Given the description of an element on the screen output the (x, y) to click on. 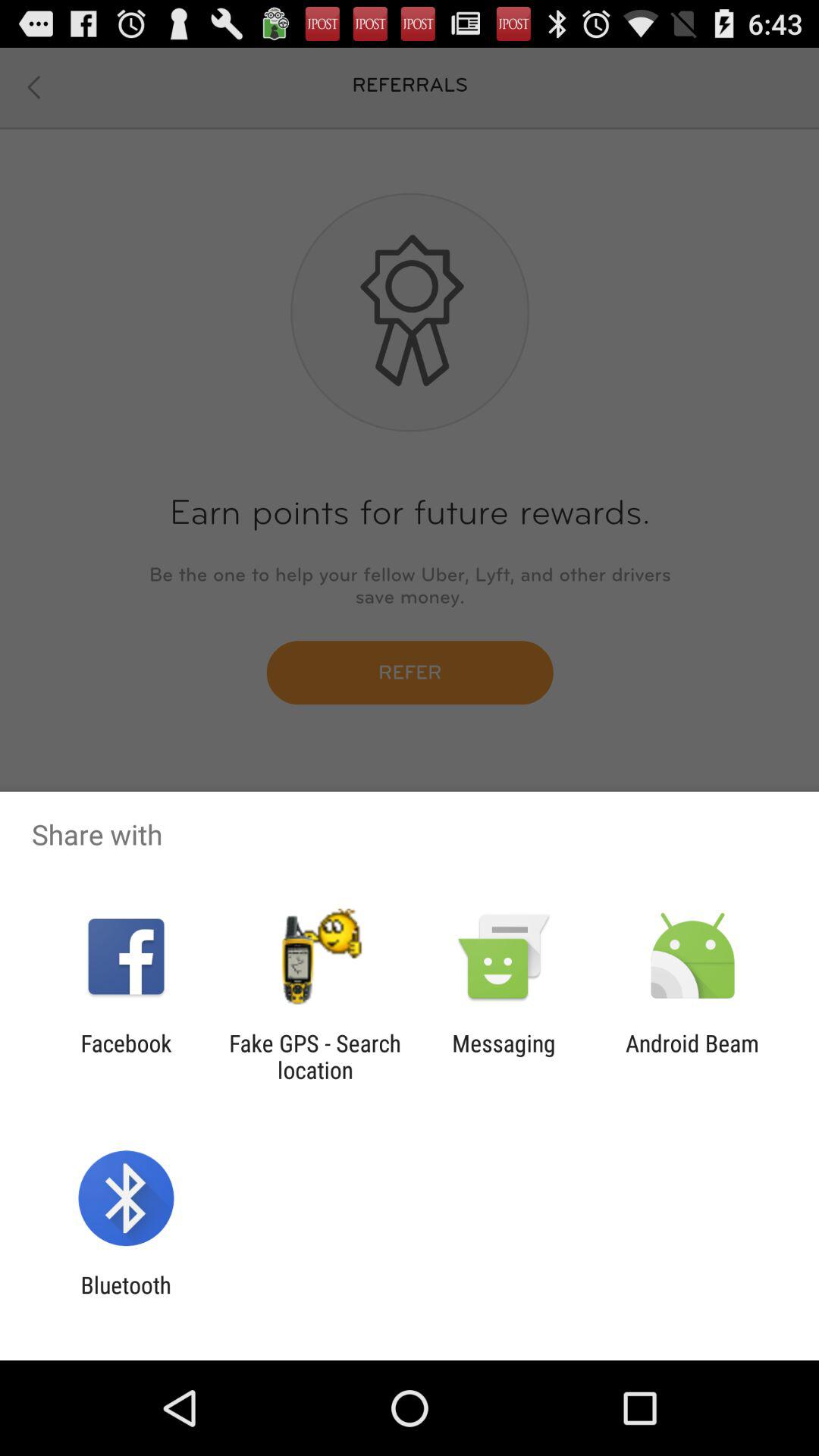
turn off the item next to fake gps search app (125, 1056)
